Given the description of an element on the screen output the (x, y) to click on. 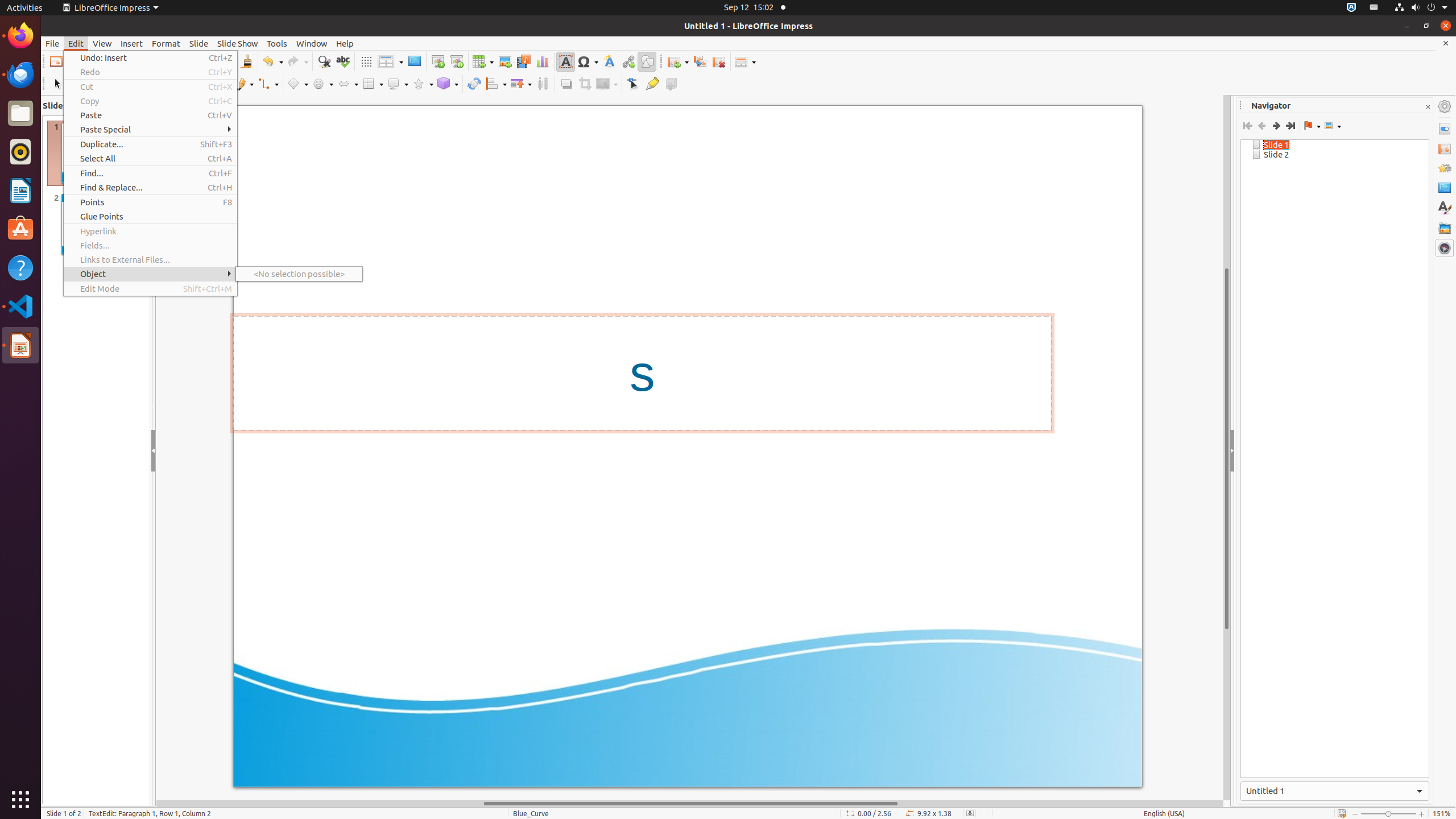
Active Window Element type: combo-box (1334, 790)
Duplicate... Element type: menu-item (150, 144)
Visual Studio Code Element type: push-button (20, 306)
Fields... Element type: menu-item (150, 245)
LibreOffice Impress Element type: push-button (20, 344)
